Given the description of an element on the screen output the (x, y) to click on. 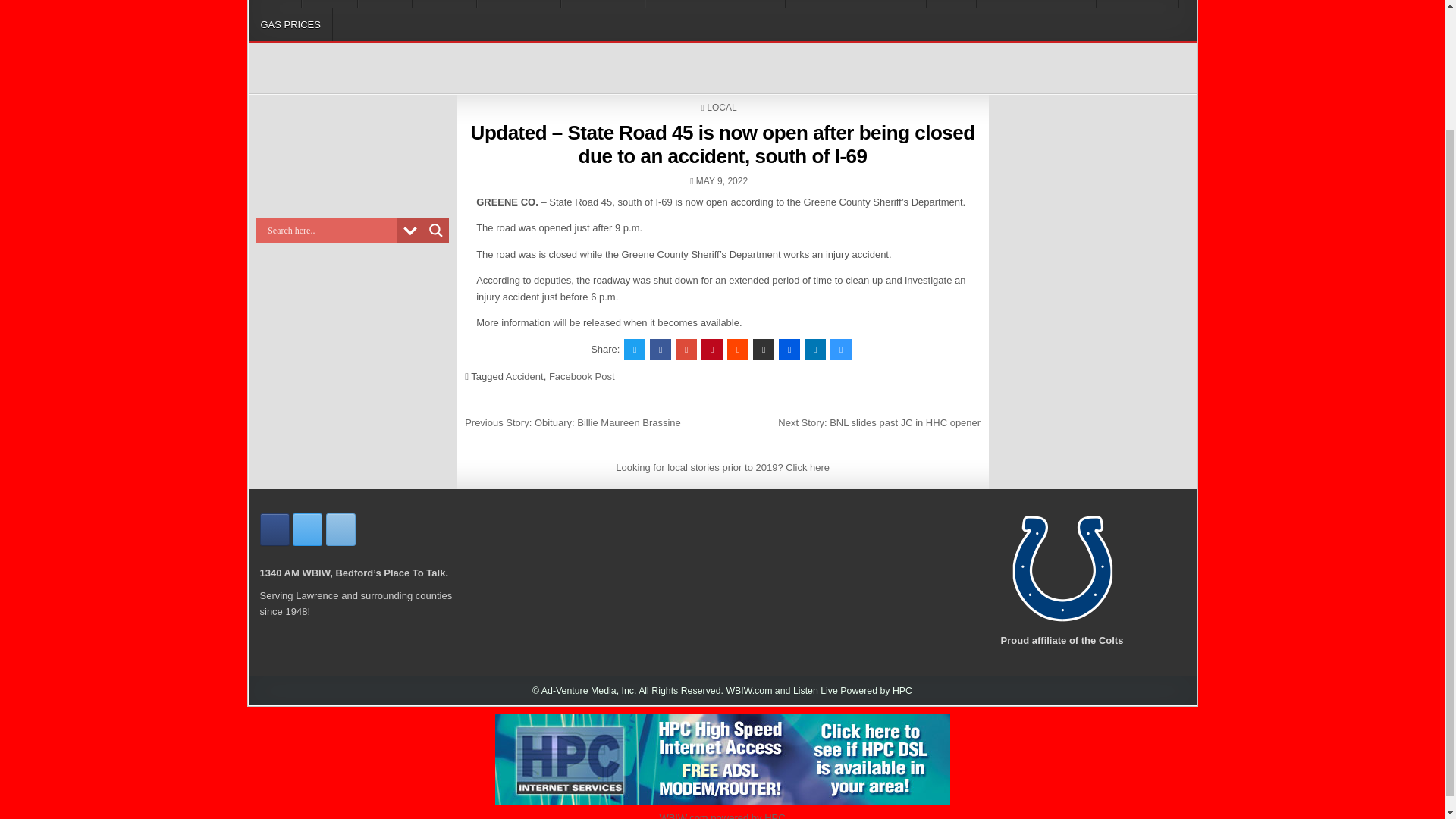
STATE (385, 4)
HOME (274, 4)
SPORTS (444, 4)
LOCAL (329, 4)
